Given the description of an element on the screen output the (x, y) to click on. 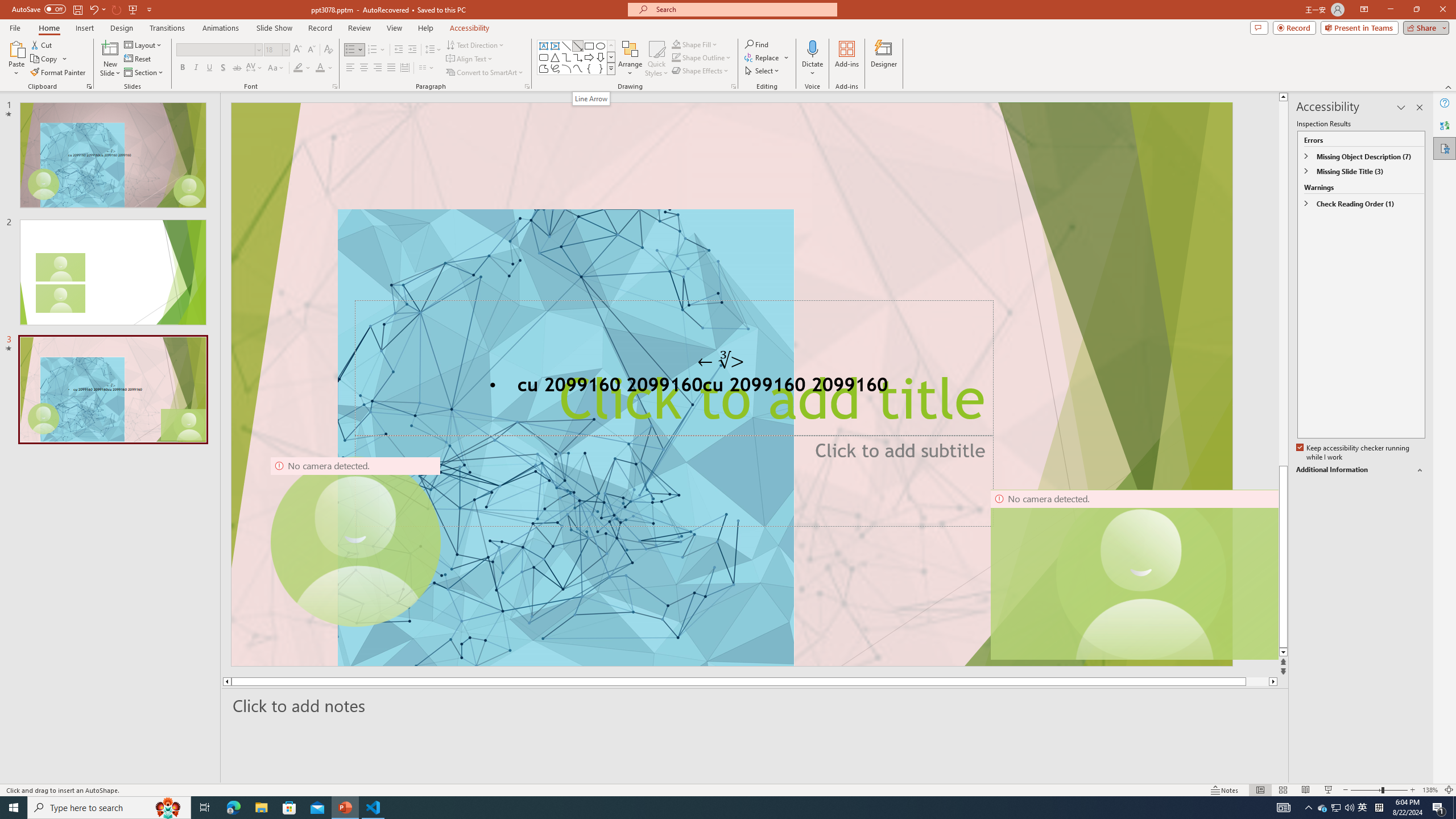
Title TextBox (673, 368)
Camera 9, No camera detected. (355, 542)
Align Left (349, 67)
Camera 14, No camera detected. (1134, 574)
